Given the description of an element on the screen output the (x, y) to click on. 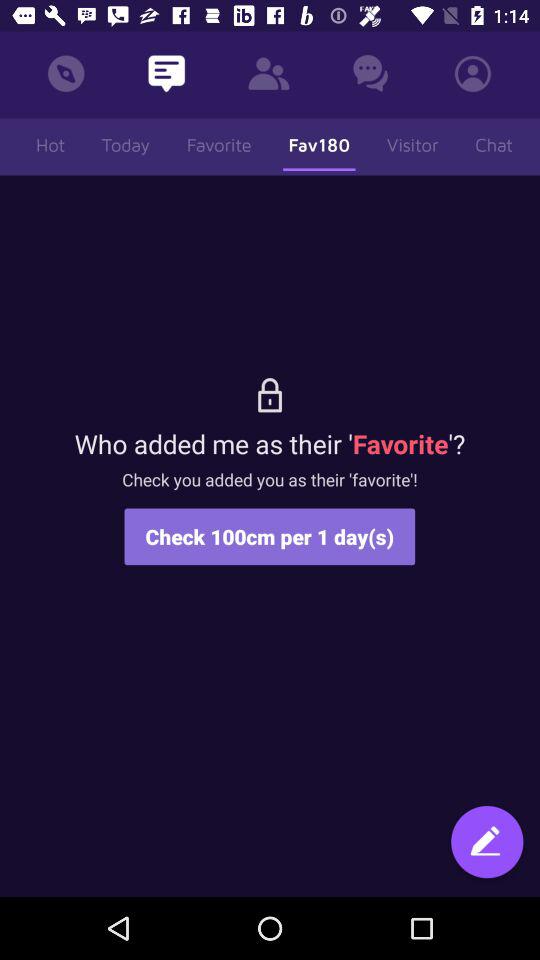
write message (487, 844)
